Given the description of an element on the screen output the (x, y) to click on. 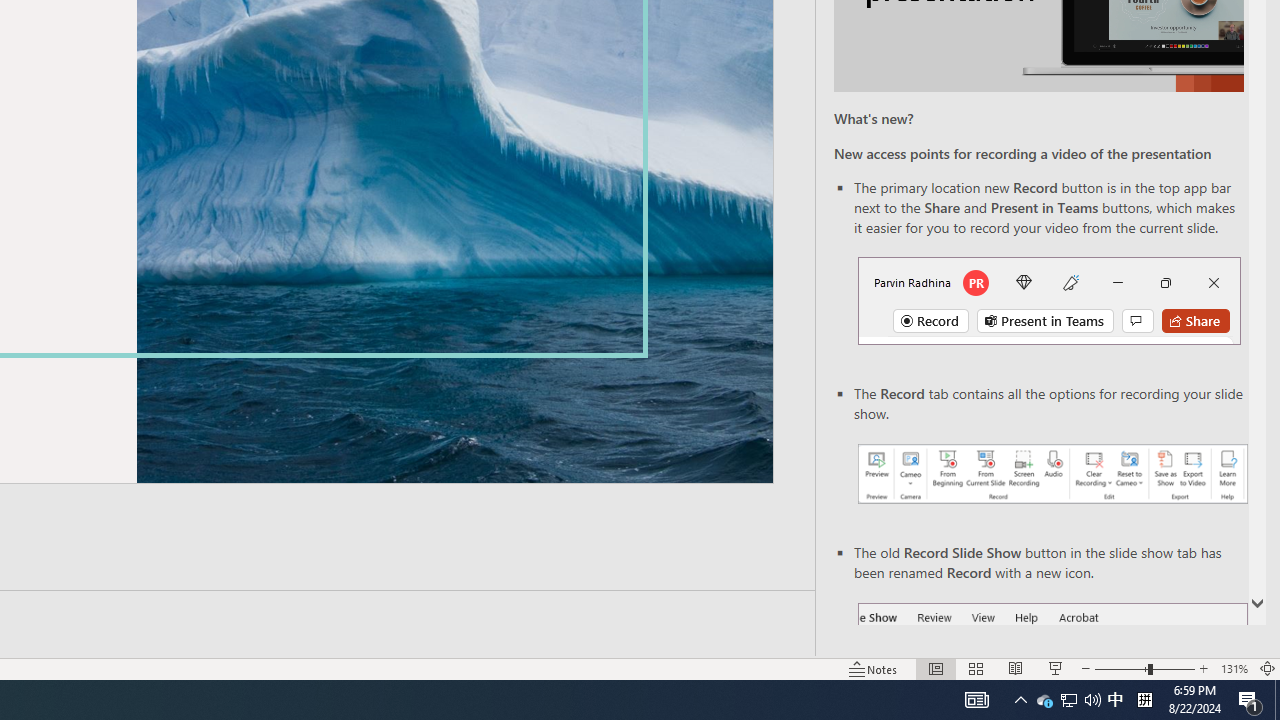
Zoom 131% (1234, 668)
Record your presentations screenshot one (1052, 473)
Record button in top bar (1049, 300)
